Given the description of an element on the screen output the (x, y) to click on. 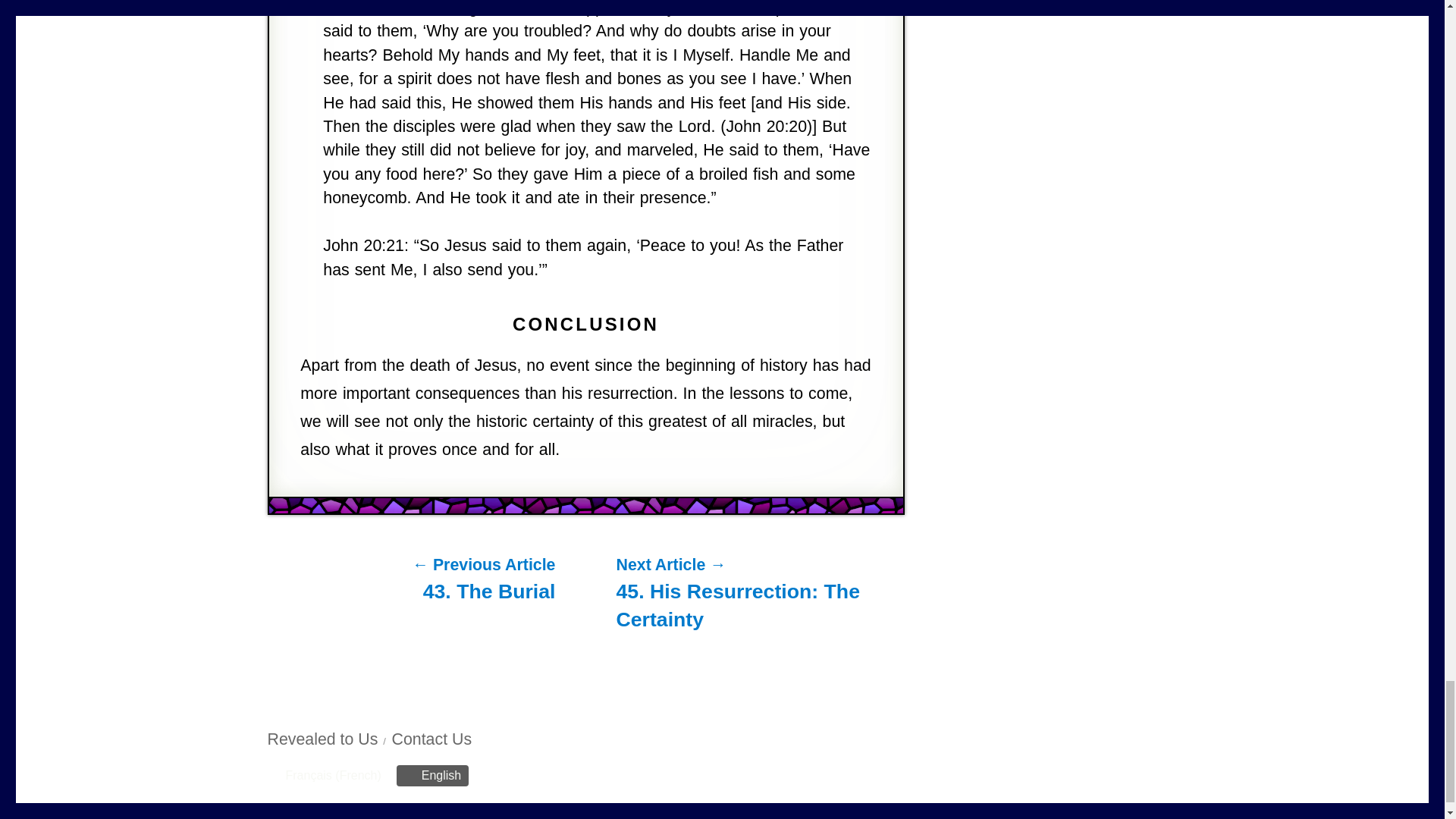
Contact Us (431, 739)
Revealed to Us (321, 739)
English (432, 775)
